Given the description of an element on the screen output the (x, y) to click on. 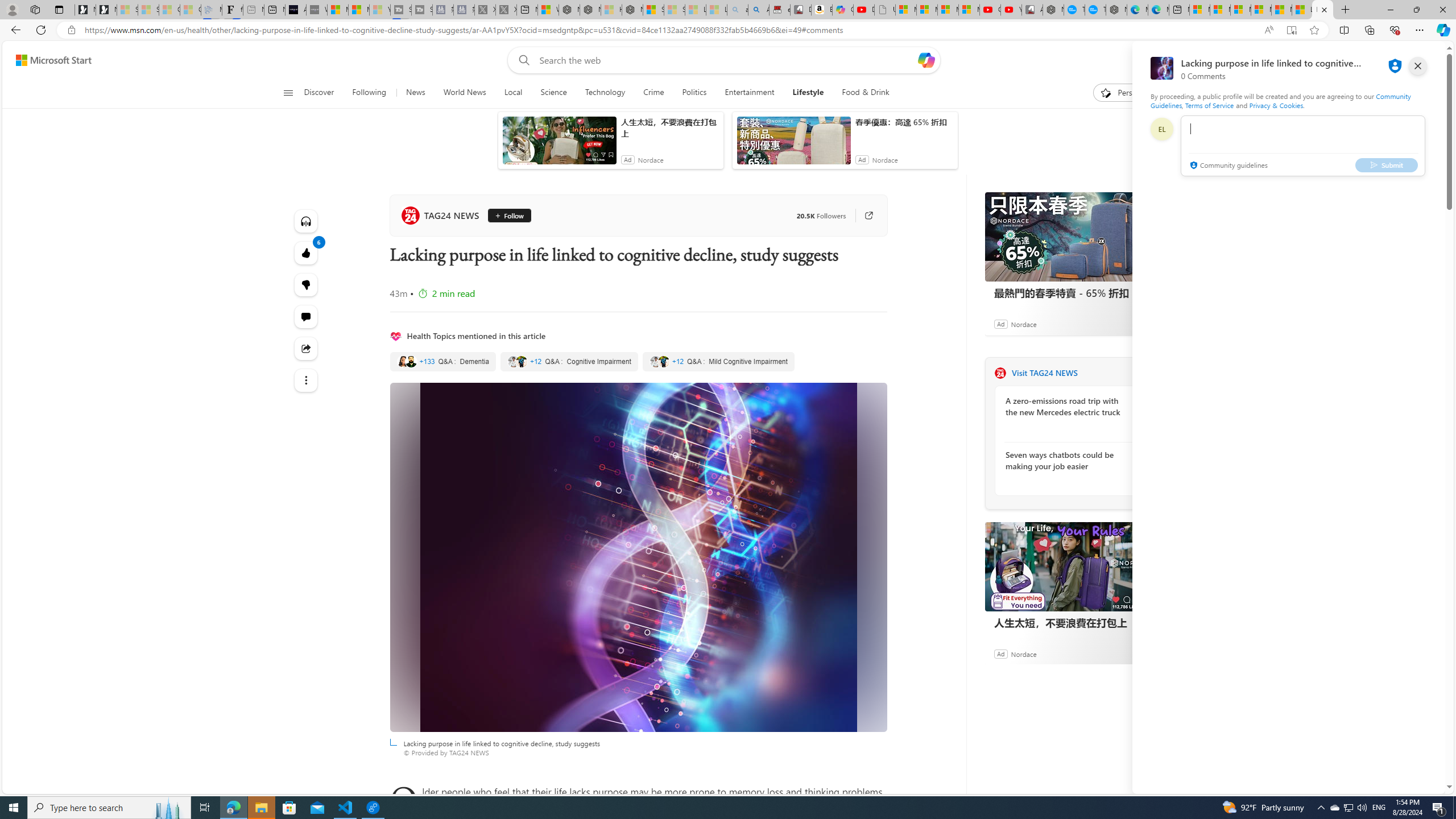
World News (464, 92)
Visit TAG24 NEWS website (1140, 372)
Share this story (305, 348)
Entertainment (748, 92)
AI Voice Changer for PC and Mac - Voice.ai (296, 9)
The most popular Google 'how to' searches (1095, 9)
YouTube Kids - An App Created for Kids to Explore Content (1010, 9)
Follow (508, 215)
Microsoft account | Microsoft Account Privacy Settings (1219, 9)
